Given the description of an element on the screen output the (x, y) to click on. 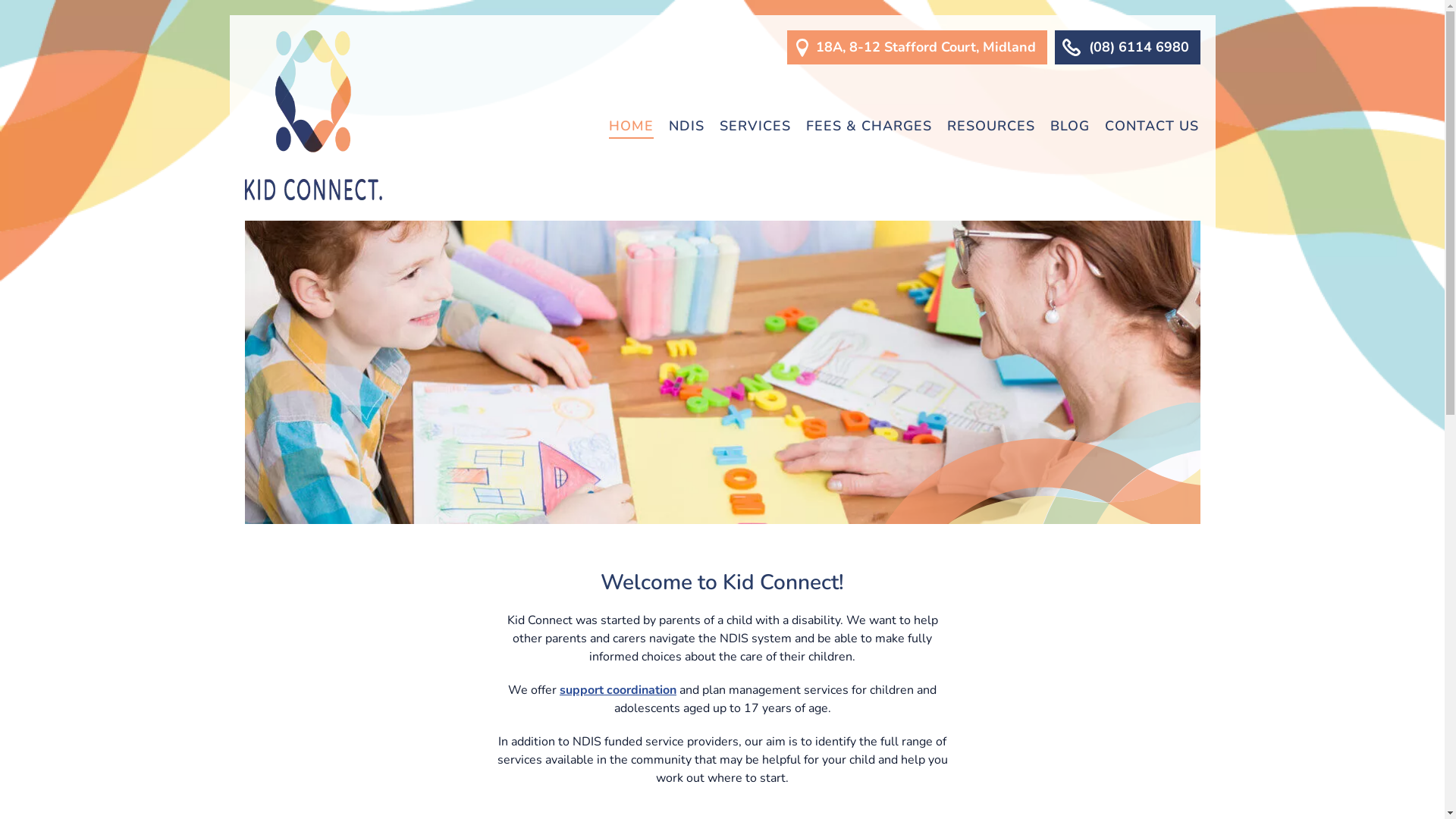
18A, 8-12 Stafford Court, Midland Element type: text (917, 47)
BLOG Element type: text (1068, 125)
RESOURCES Element type: text (989, 125)
(08) 6114 6980 Element type: text (1126, 47)
HOME Element type: text (630, 125)
SERVICES Element type: text (754, 125)
support coordination Element type: text (617, 689)
CONTACT US Element type: text (1150, 125)
FEES & CHARGES Element type: text (867, 125)
NDIS Element type: text (686, 125)
